Given the description of an element on the screen output the (x, y) to click on. 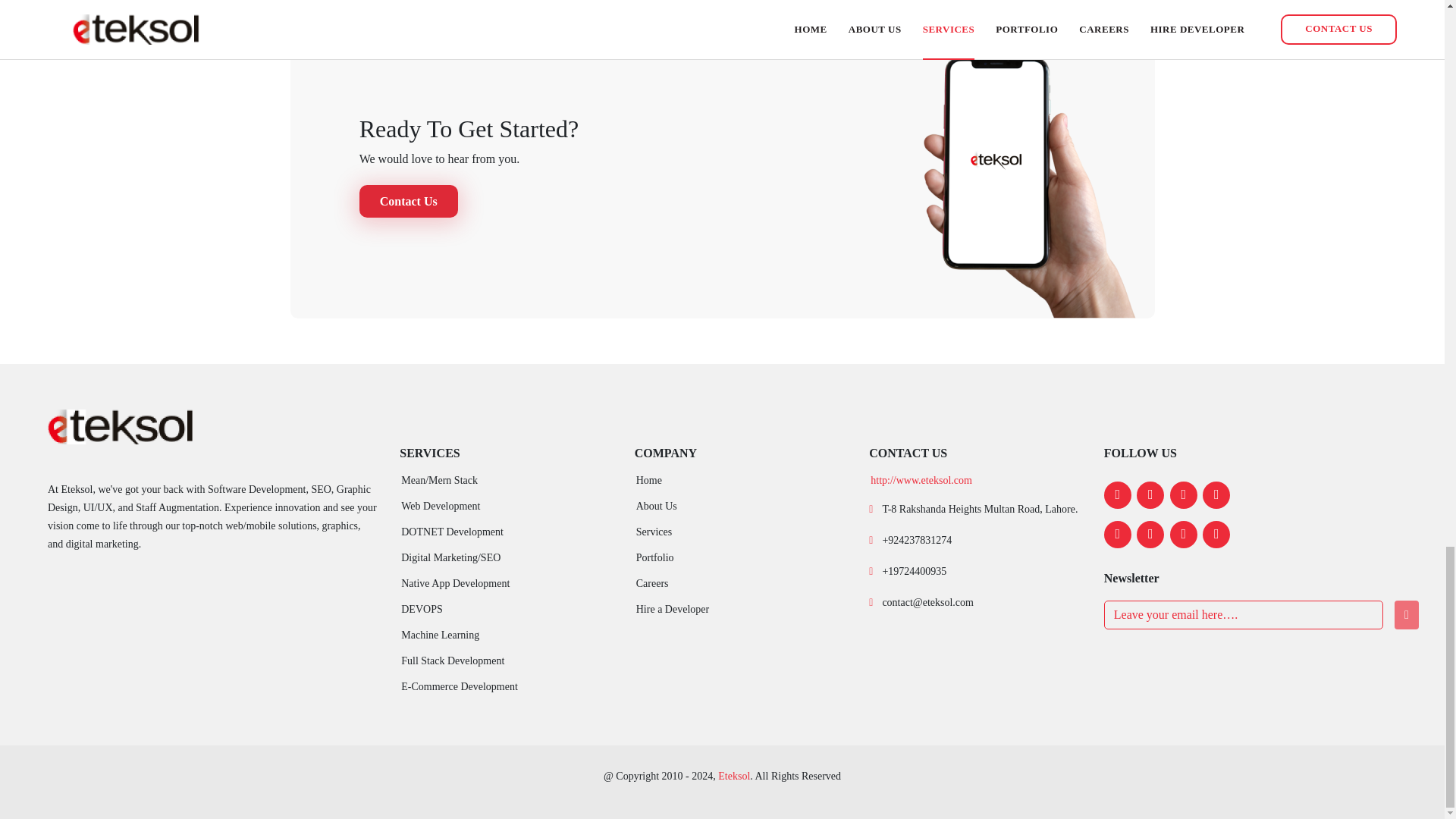
DEVOPS (421, 609)
Web Development (440, 506)
Careers (652, 583)
About Us (656, 506)
DOTNET Development (452, 532)
Full Stack Development (452, 661)
Machine Learning (440, 634)
Services (653, 532)
E-Commerce Development (459, 686)
Native App Development (455, 583)
Portfolio (655, 557)
Contact Us (408, 201)
T-8 Rakshanda Heights Multan Road, Lahore. (979, 509)
Home (649, 480)
Hire a Developer (672, 609)
